Given the description of an element on the screen output the (x, y) to click on. 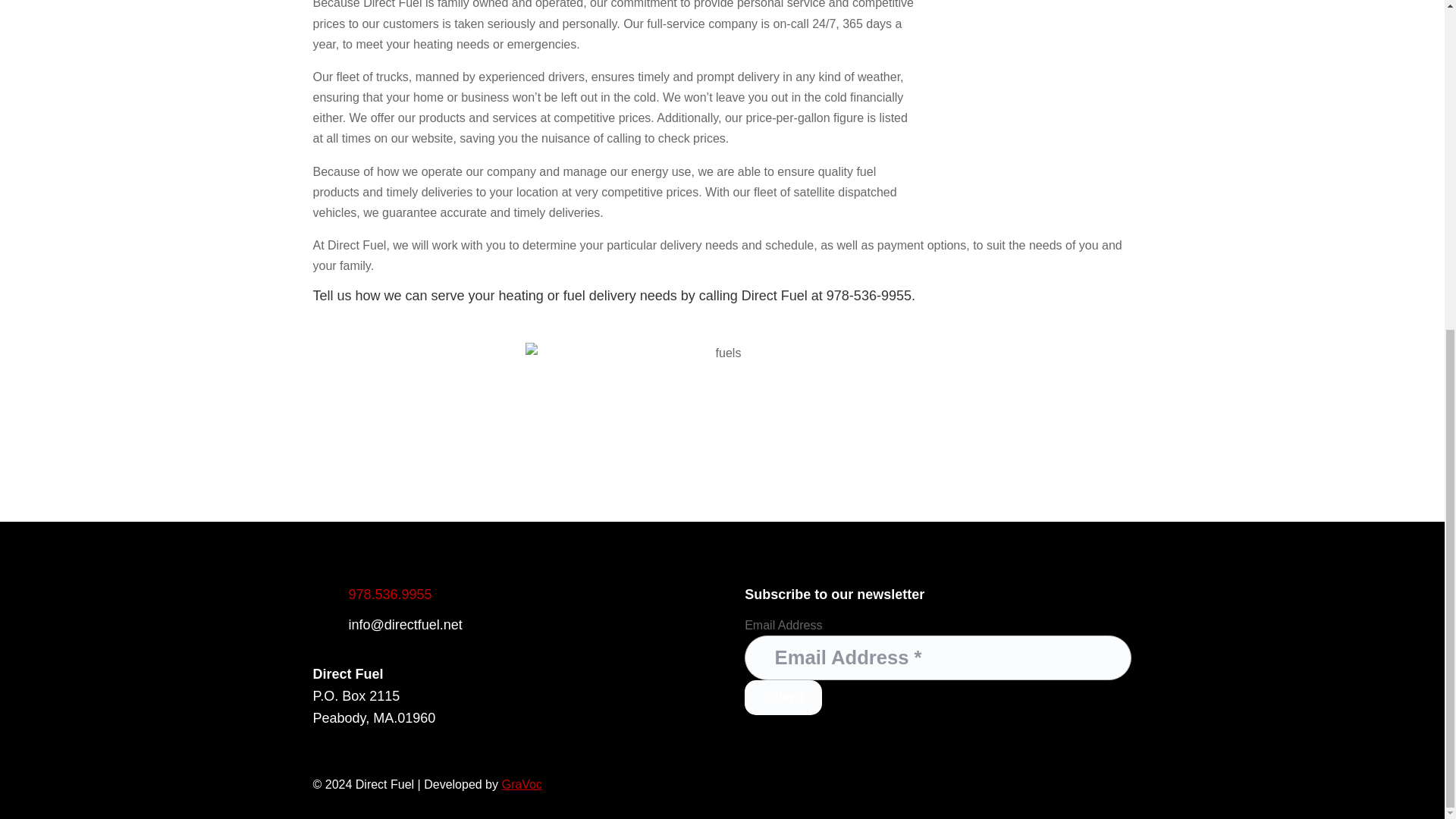
Submit (783, 697)
GraVoc (520, 784)
Submit (783, 697)
978.536.9955 (390, 594)
